Given the description of an element on the screen output the (x, y) to click on. 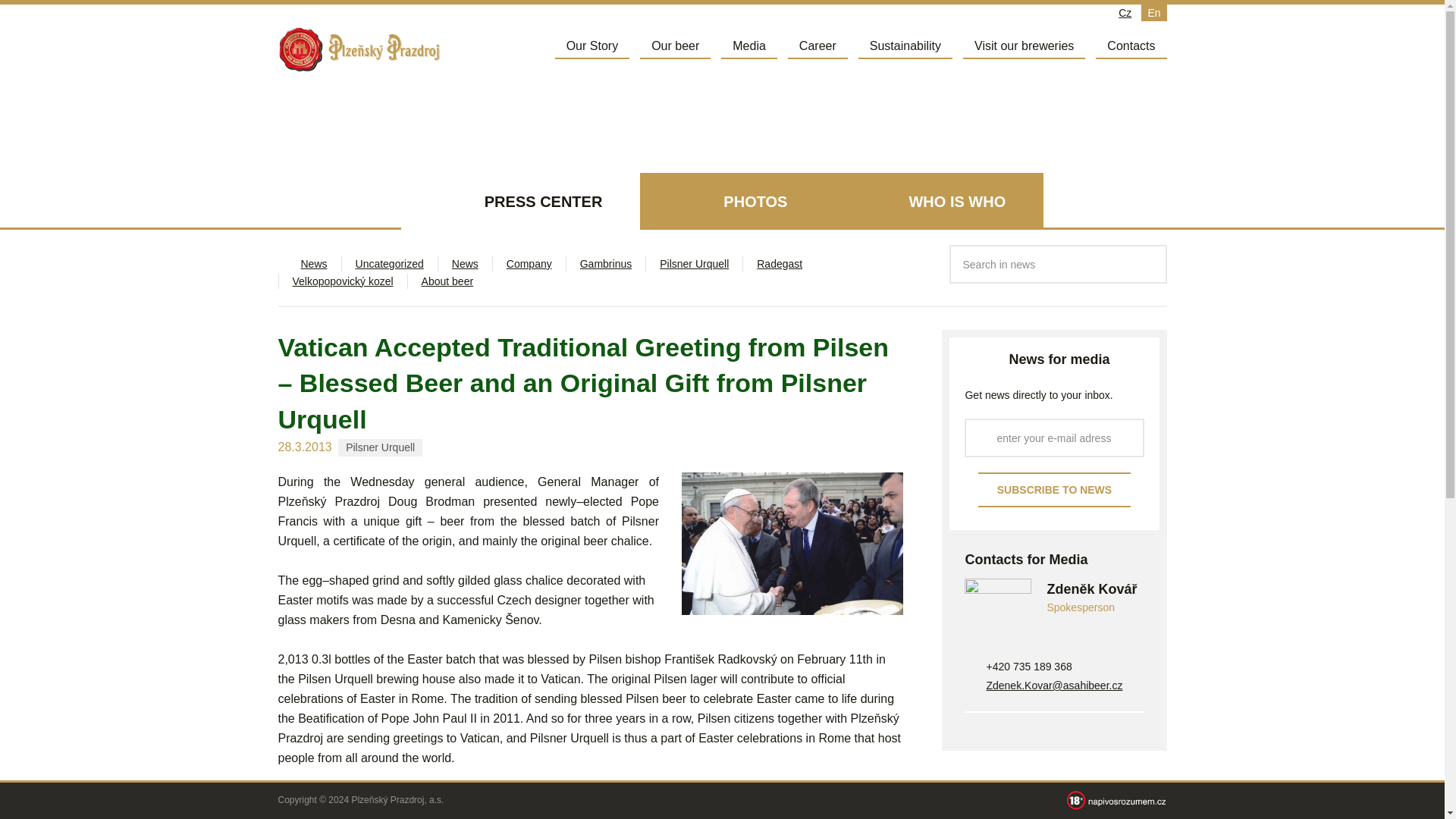
search (1148, 264)
Radegast (779, 263)
Skip to primary content (612, 43)
PHOTOS (732, 201)
Sustainability (905, 45)
PRESS CENTER (520, 201)
News (465, 263)
Media (748, 45)
Pilsner Urquell (694, 263)
Our beer (675, 45)
